Given the description of an element on the screen output the (x, y) to click on. 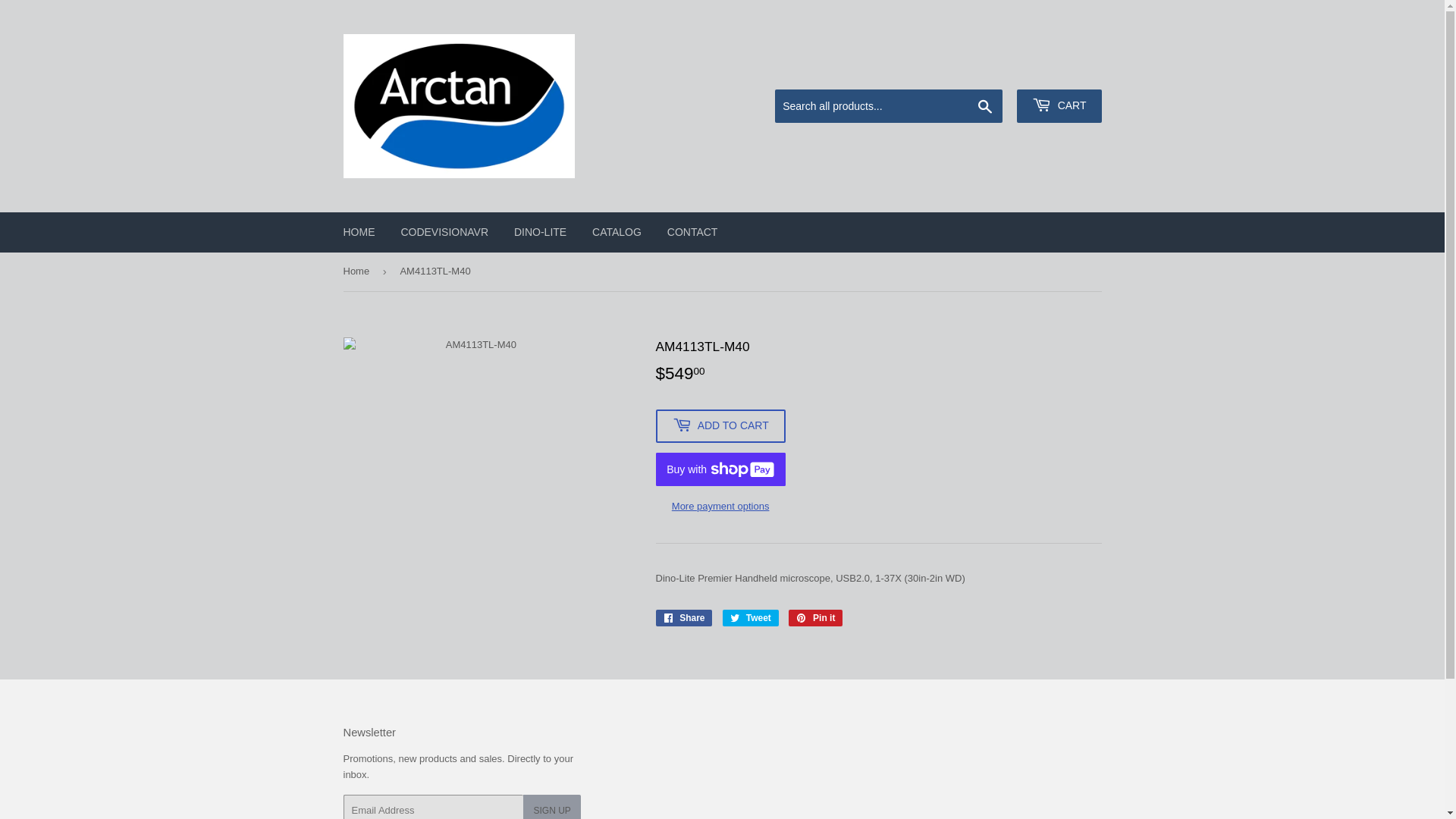
Search Element type: text (985, 106)
ADD TO CART Element type: text (719, 425)
Home Element type: text (358, 271)
Pin it
Pin on Pinterest Element type: text (815, 617)
More payment options Element type: text (719, 506)
CODEVISIONAVR Element type: text (444, 231)
CONTACT Element type: text (692, 231)
HOME Element type: text (359, 231)
CATALOG Element type: text (616, 231)
Tweet
Tweet on Twitter Element type: text (750, 617)
Share
Share on Facebook Element type: text (683, 617)
CART Element type: text (1058, 105)
DINO-LITE Element type: text (539, 231)
